Given the description of an element on the screen output the (x, y) to click on. 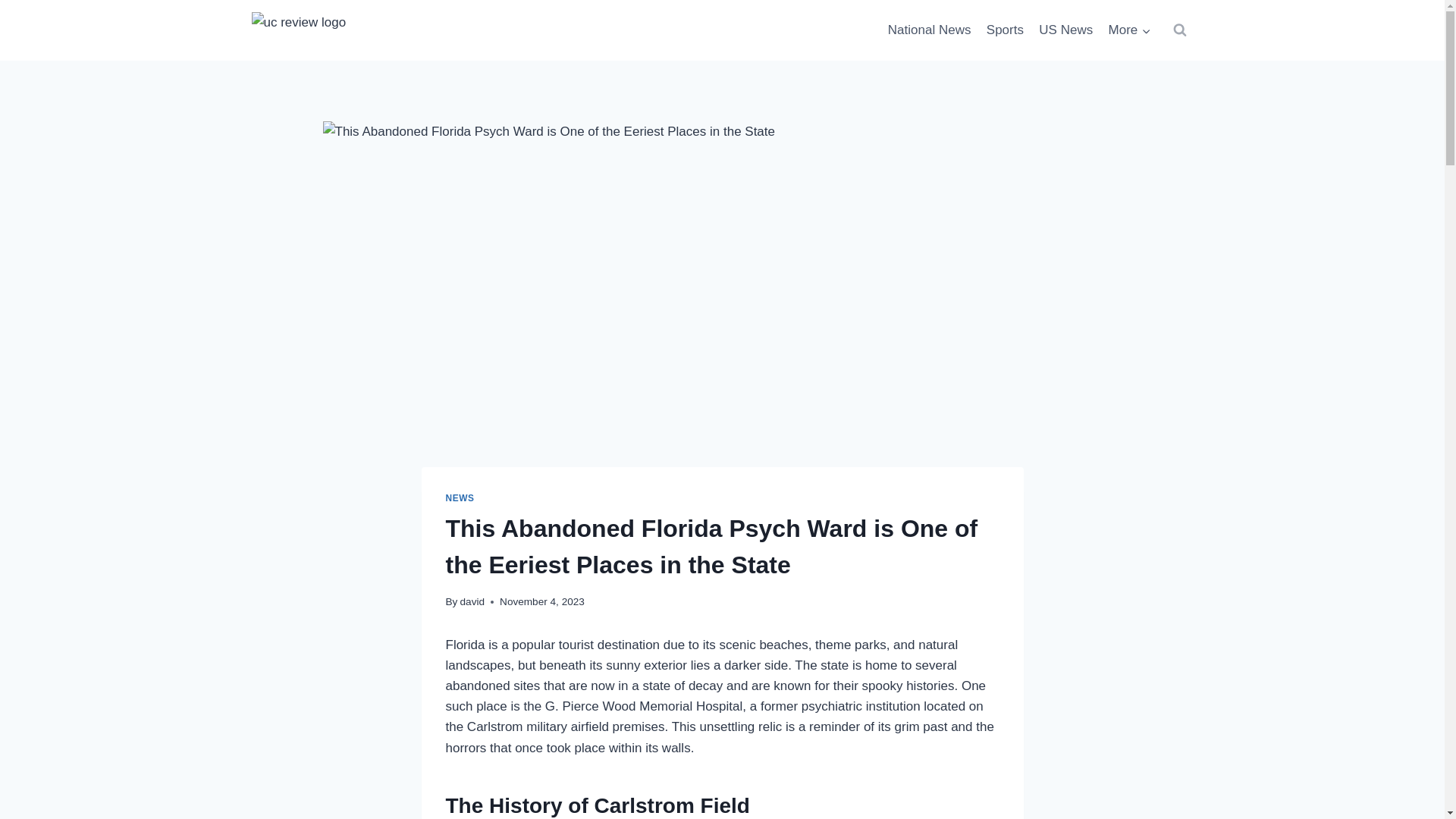
NEWS (459, 498)
More (1128, 30)
US News (1065, 30)
Sports (1005, 30)
david (472, 601)
National News (929, 30)
